Given the description of an element on the screen output the (x, y) to click on. 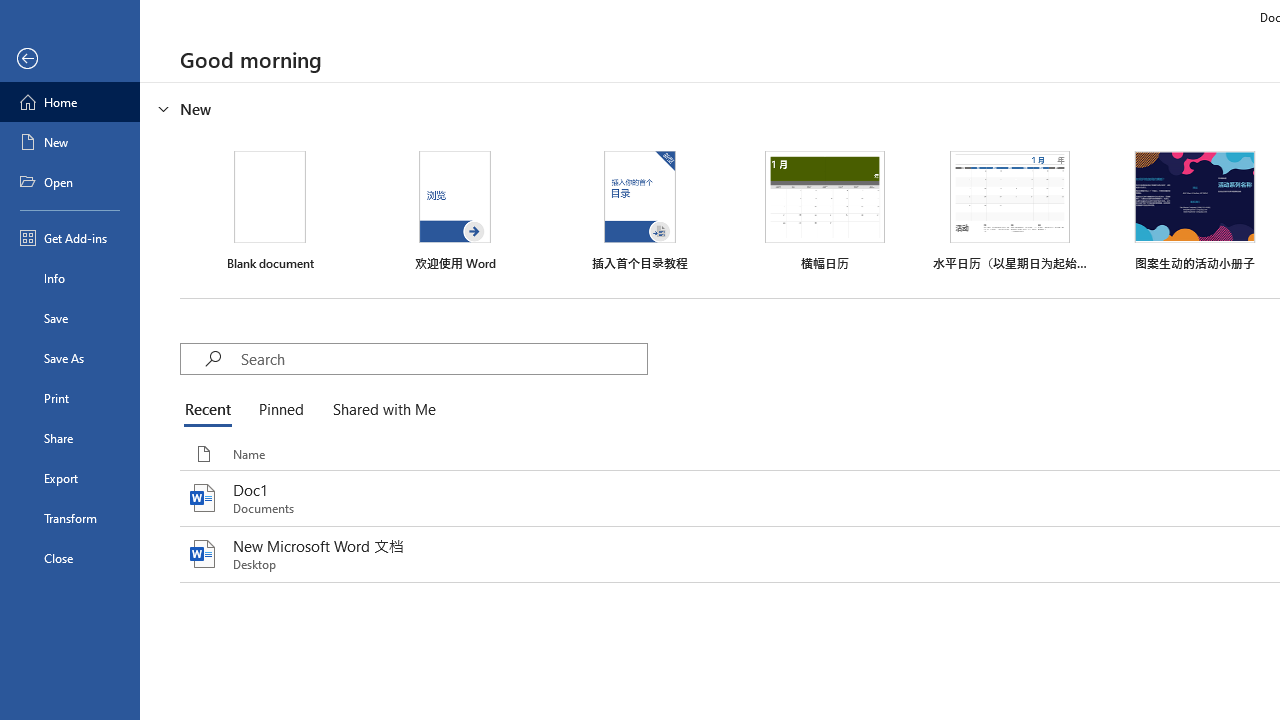
Transform (69, 517)
Recent (212, 410)
Info (69, 277)
Shared with Me (379, 410)
Blank document (269, 211)
Export (69, 477)
Back (69, 59)
Get Add-ins (69, 237)
